Given the description of an element on the screen output the (x, y) to click on. 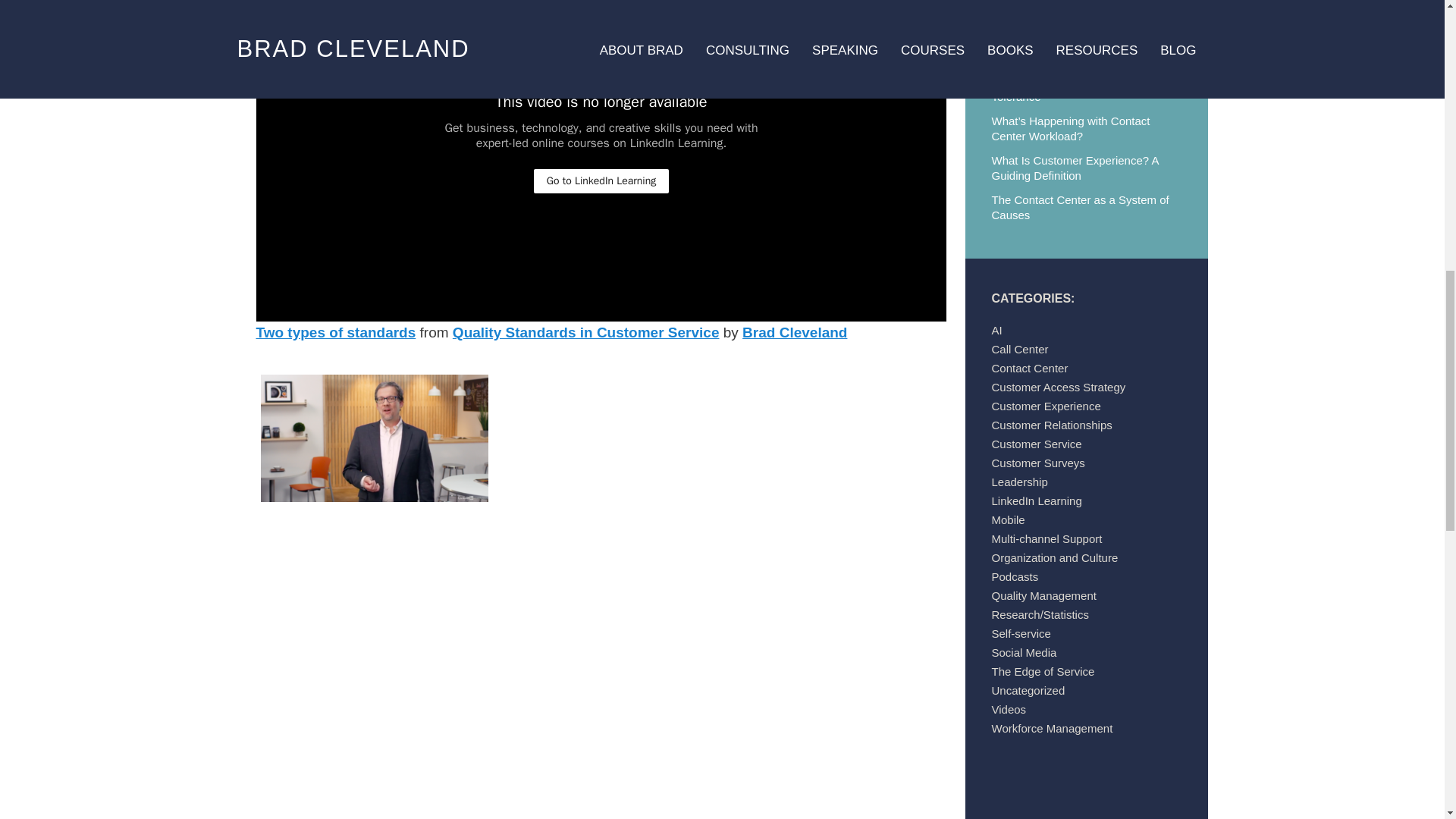
Customer Access Strategy (1058, 386)
The Seven Factors of Customer Tolerance (1072, 89)
The Contact Center as a System of Causes (1080, 207)
Customer Service (1036, 443)
Two types of standards (336, 332)
Quality Standards in Customer Service (585, 332)
Brad Cleveland (794, 332)
What Is Customer Experience? A Guiding Definition (1074, 167)
Customer Experience (1045, 405)
Call Center (1019, 349)
Listen to Your Employees: Survey Smart and Survey Often (1076, 49)
Contact Center (1029, 367)
Customer Relationships (1051, 424)
